Given the description of an element on the screen output the (x, y) to click on. 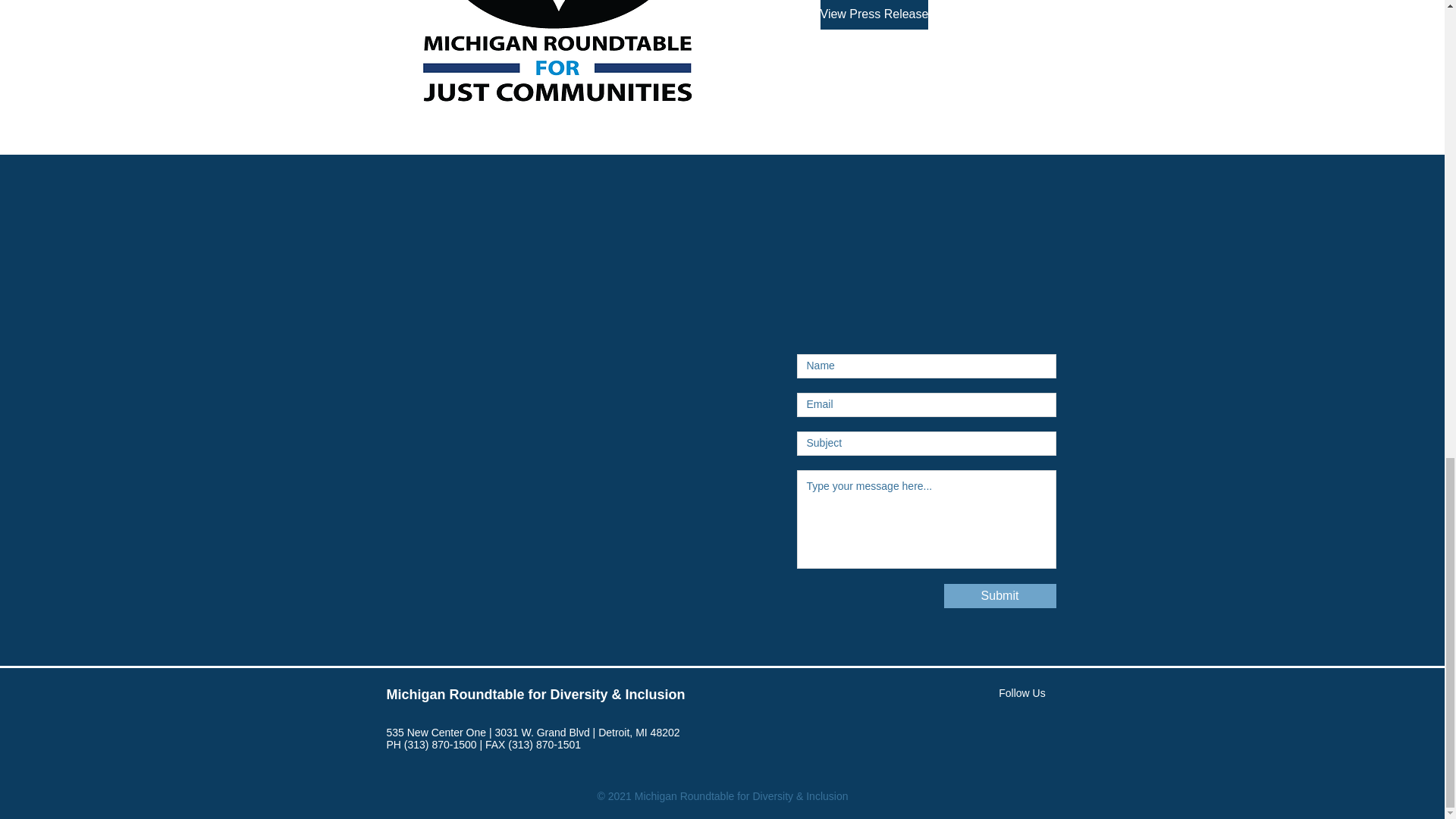
View Press Release (874, 14)
Submit (999, 595)
